Given the description of an element on the screen output the (x, y) to click on. 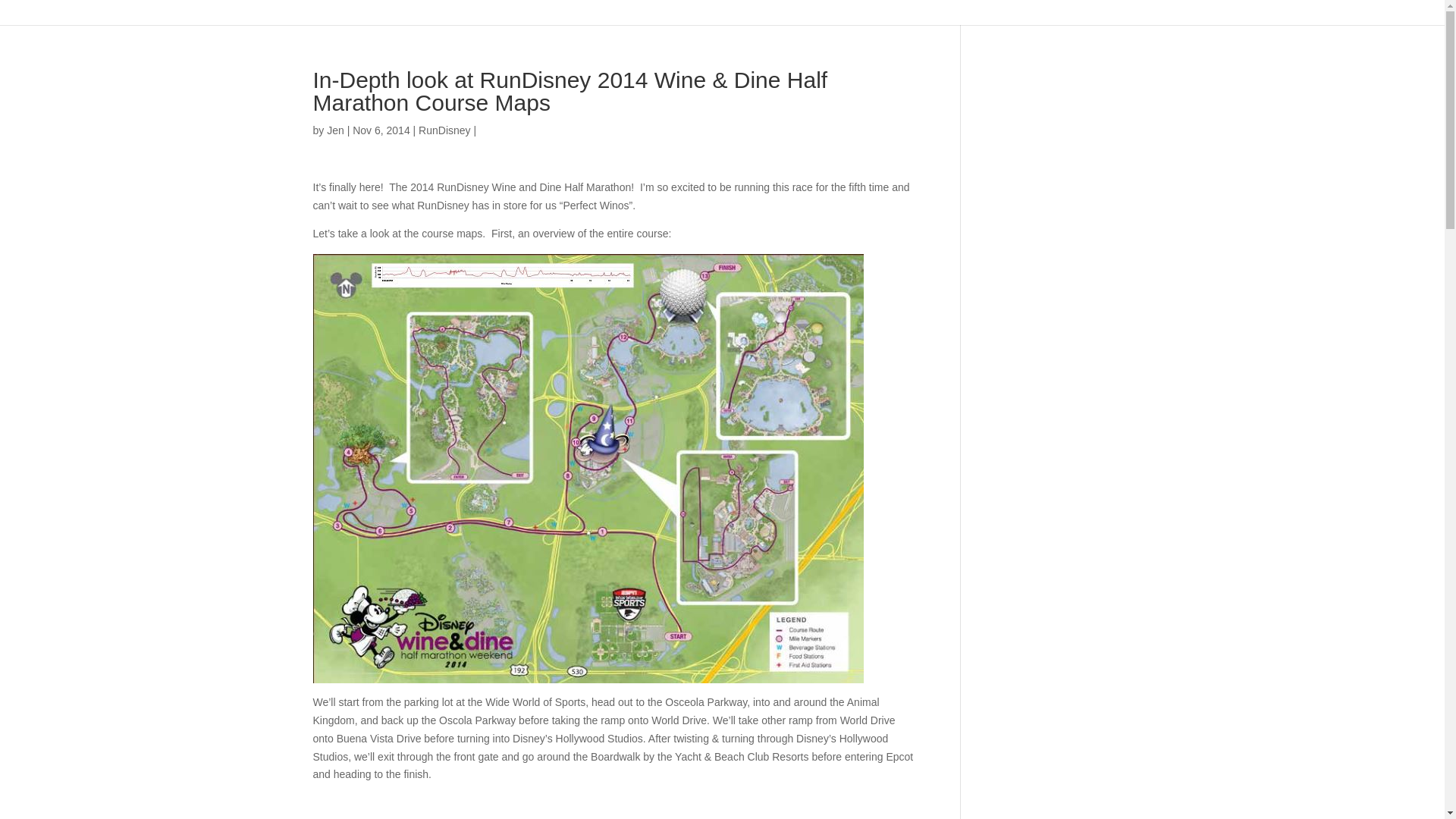
Posts by Jen (334, 130)
Jen (334, 130)
RunDisney (444, 130)
